Given the description of an element on the screen output the (x, y) to click on. 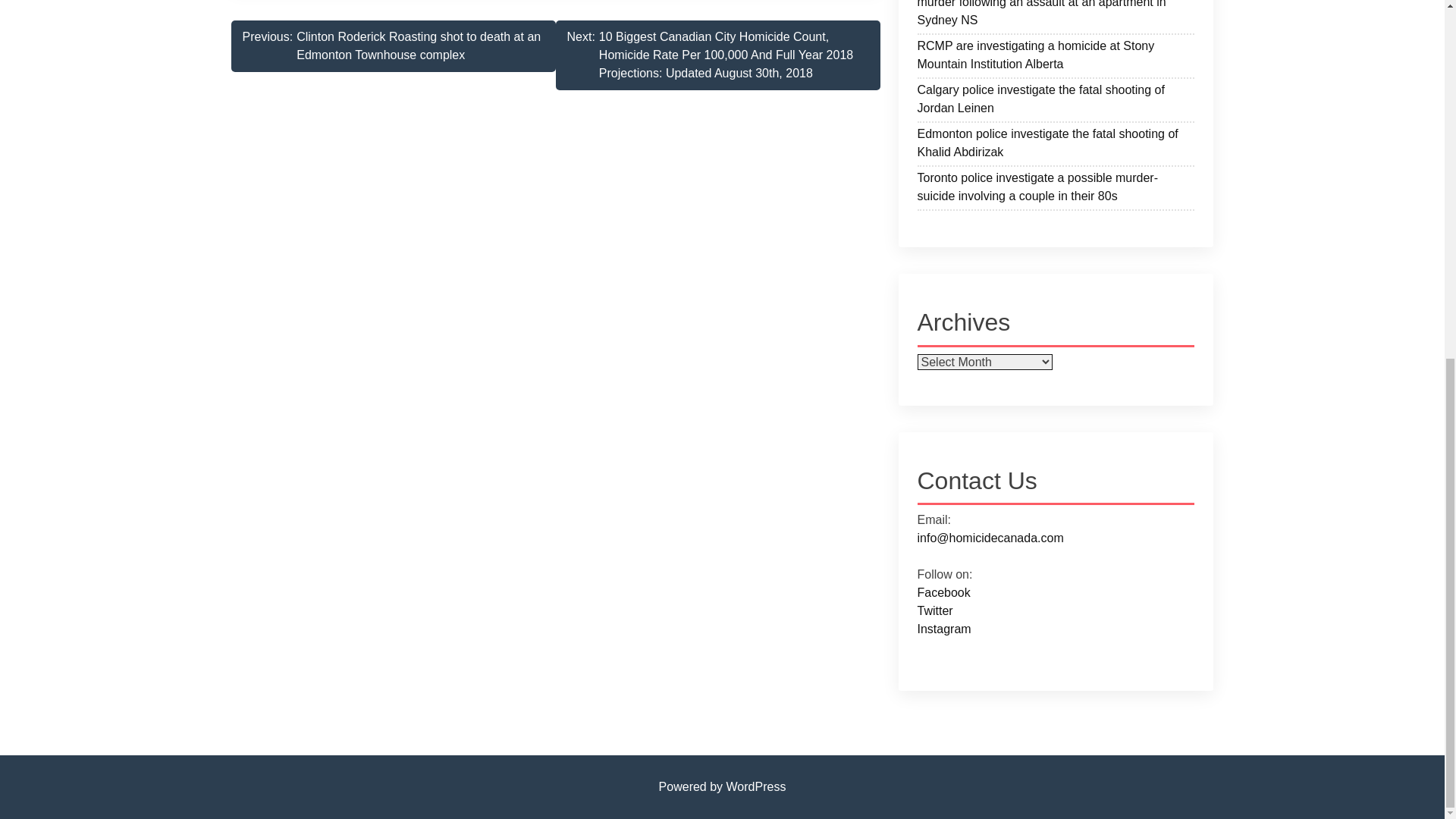
Powered by WordPress (722, 786)
Facebook (944, 592)
Instagram (944, 628)
Twitter (935, 610)
